Given the description of an element on the screen output the (x, y) to click on. 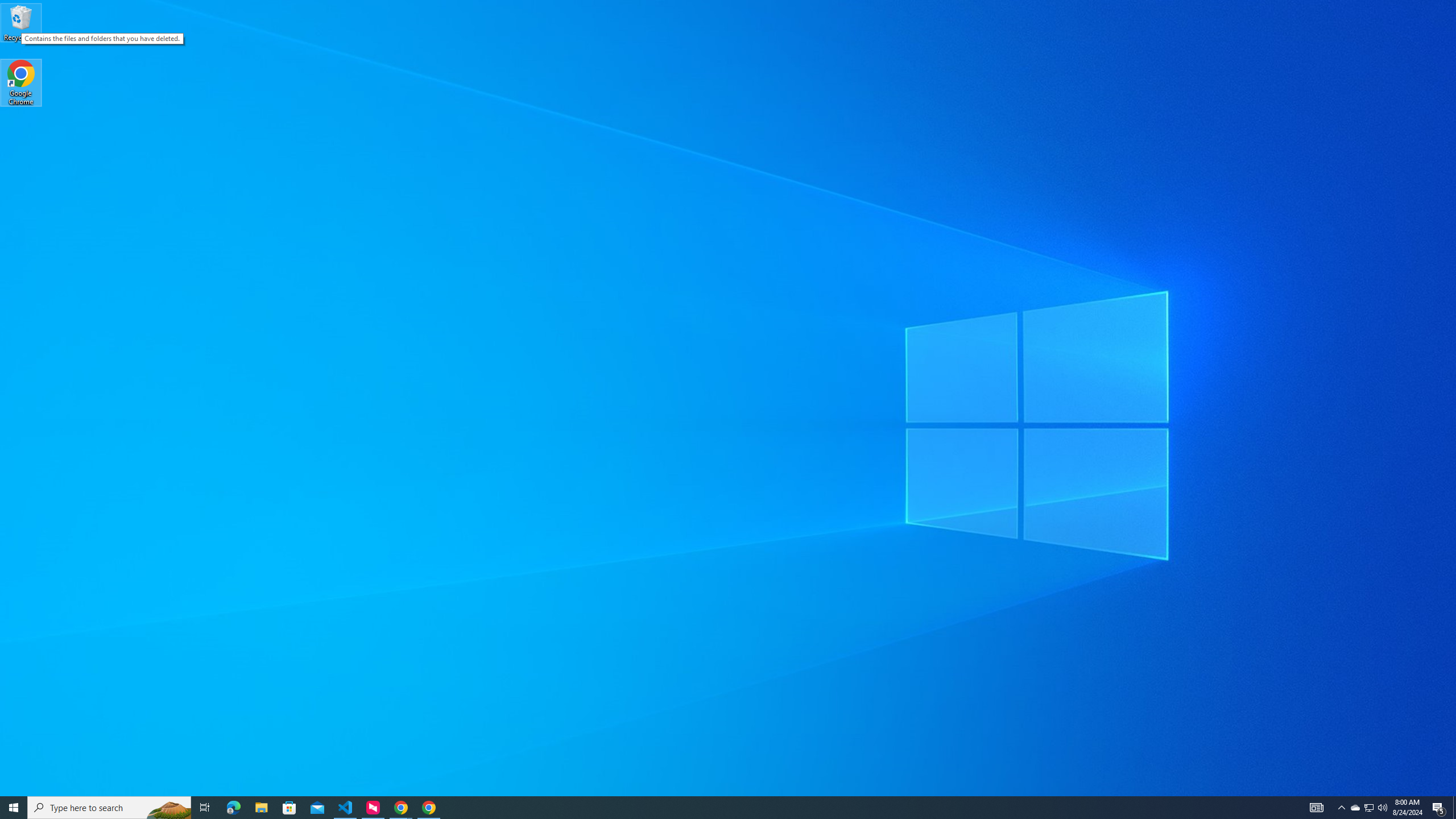
Recycle Bin (21, 22)
Google Chrome (21, 82)
